Given the description of an element on the screen output the (x, y) to click on. 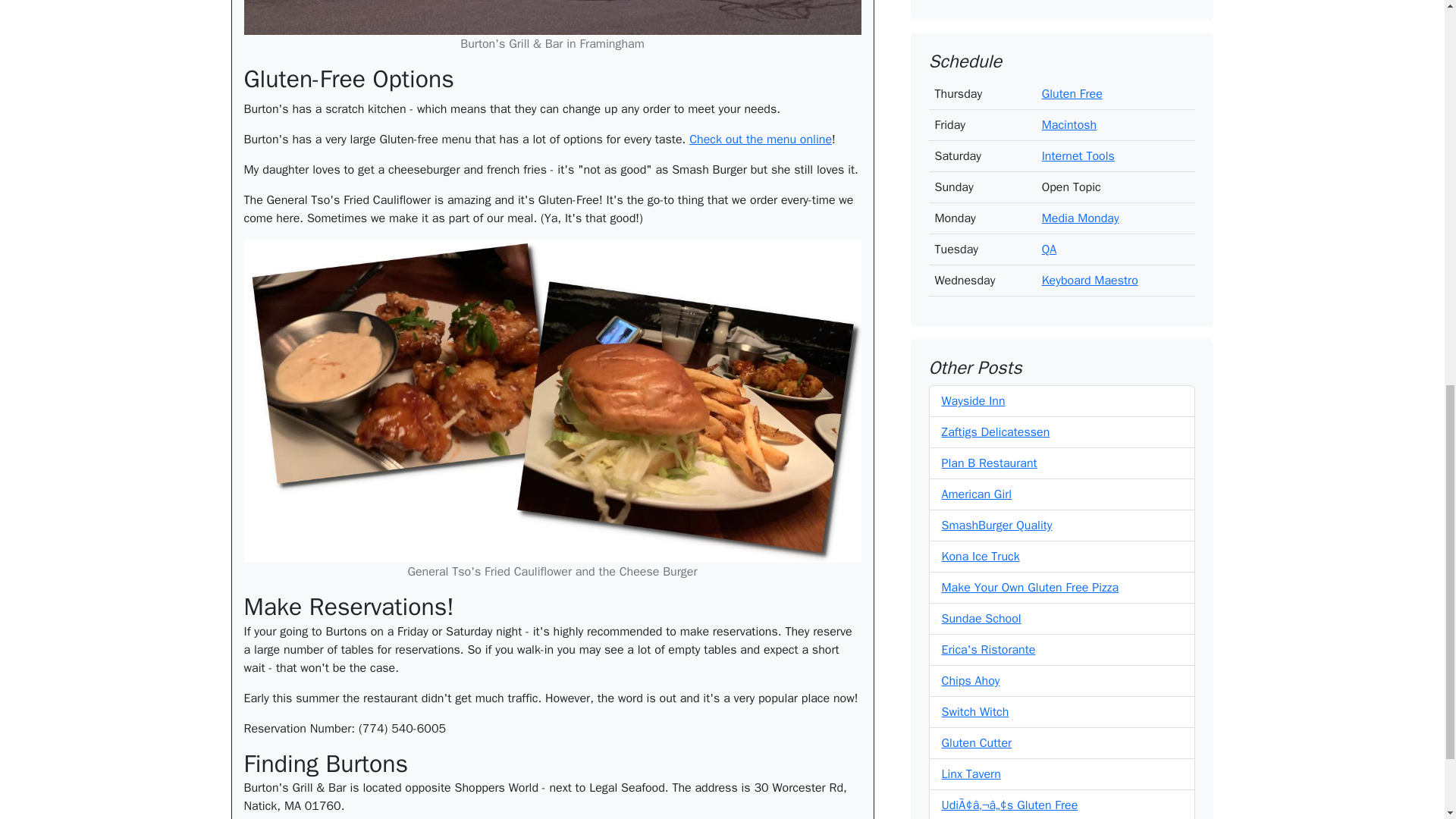
Plan B Restaurant (989, 160)
Switch Witch (975, 409)
American Girl (976, 192)
Fire Dough Kitchen (992, 534)
Linx Tavern (971, 472)
Check out the menu online (759, 139)
Chips Ahoy (971, 378)
Sundae School (982, 316)
Kona Ice Truck (981, 254)
Erica's Ristorante (988, 347)
Wayside Inn (974, 99)
Gluten Cutter (976, 441)
Make Your Own Gluten Free Pizza (1030, 285)
Zaftigs Delicatessen (995, 130)
SmashBurger Quality (997, 223)
